Given the description of an element on the screen output the (x, y) to click on. 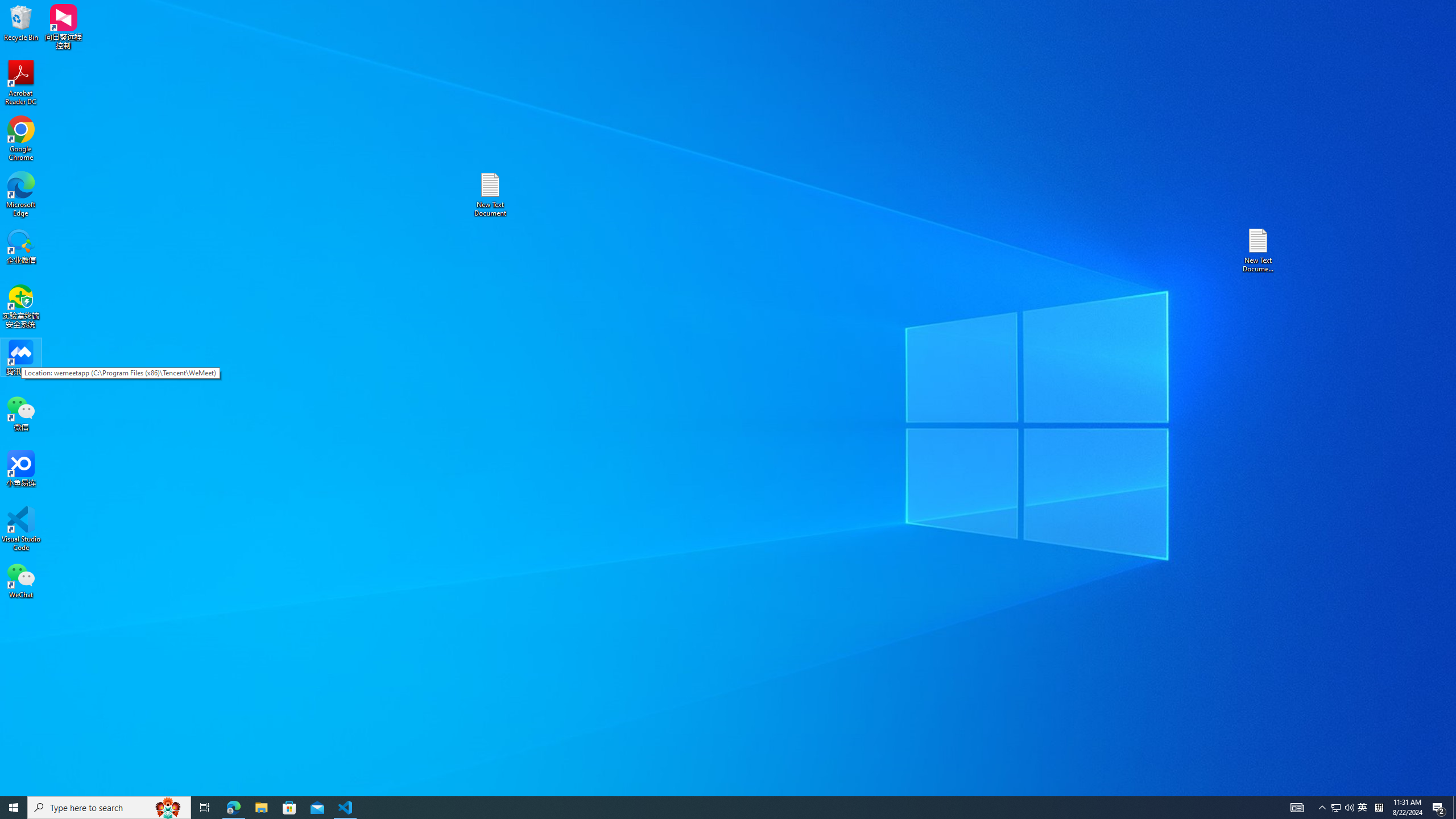
Microsoft Edge - 1 running window (233, 807)
WeChat (21, 580)
Running applications (707, 807)
Action Center, 2 new notifications (1439, 807)
AutomationID: 4105 (1297, 807)
Microsoft Edge (21, 194)
